Given the description of an element on the screen output the (x, y) to click on. 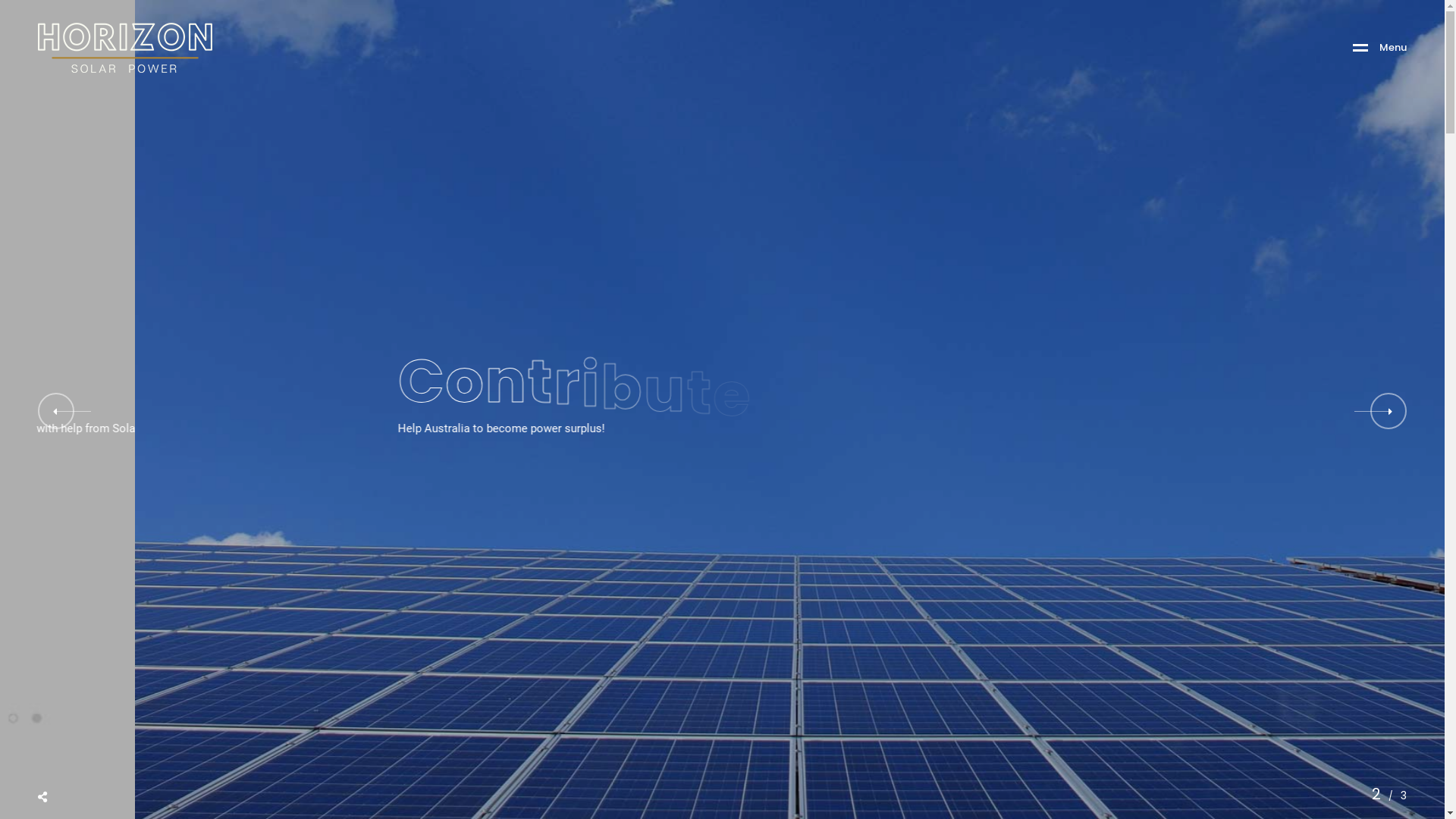
FIND OUT MORE Element type: text (449, 468)
